Given the description of an element on the screen output the (x, y) to click on. 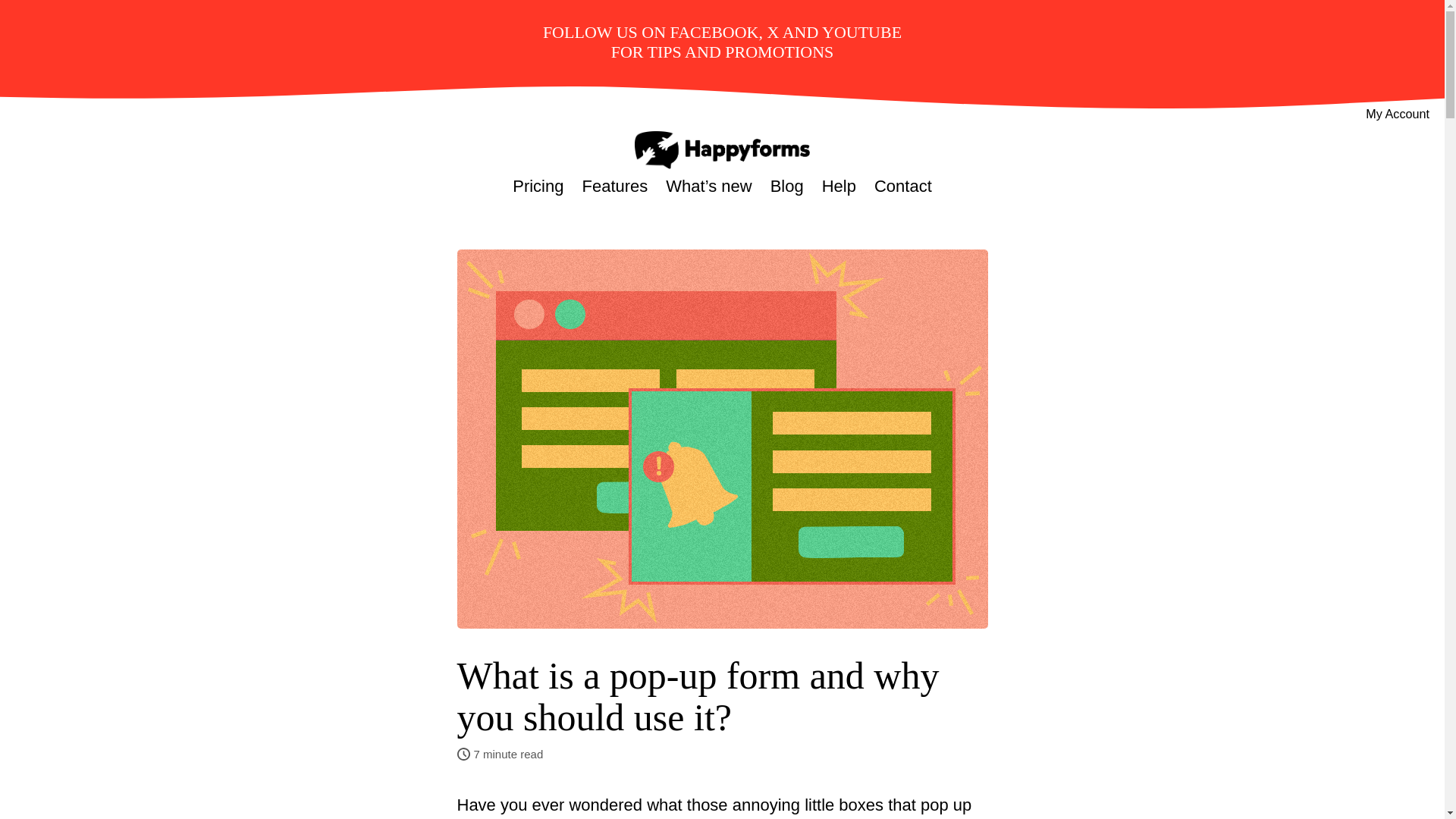
FACEBOOK (713, 31)
Features (613, 185)
Blog (786, 185)
My Account (1397, 113)
YouTube (861, 31)
Facebook (713, 31)
Help (839, 185)
YOUTUBE (861, 31)
Contact (903, 185)
Happyforms (721, 149)
Pricing (537, 185)
